Given the description of an element on the screen output the (x, y) to click on. 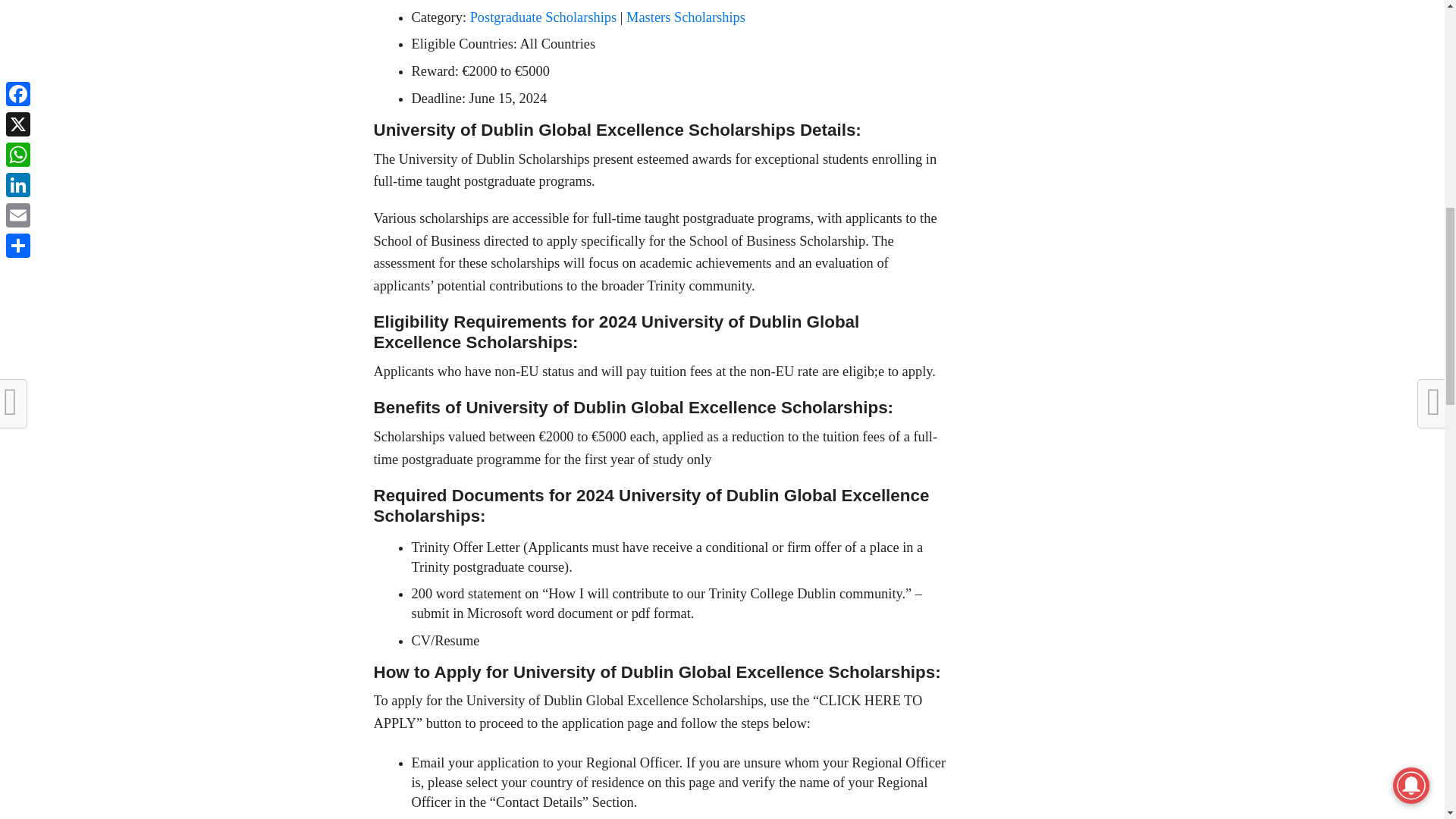
Masters Scholarships  (687, 17)
Postgraduate Scholarships (543, 17)
